Given the description of an element on the screen output the (x, y) to click on. 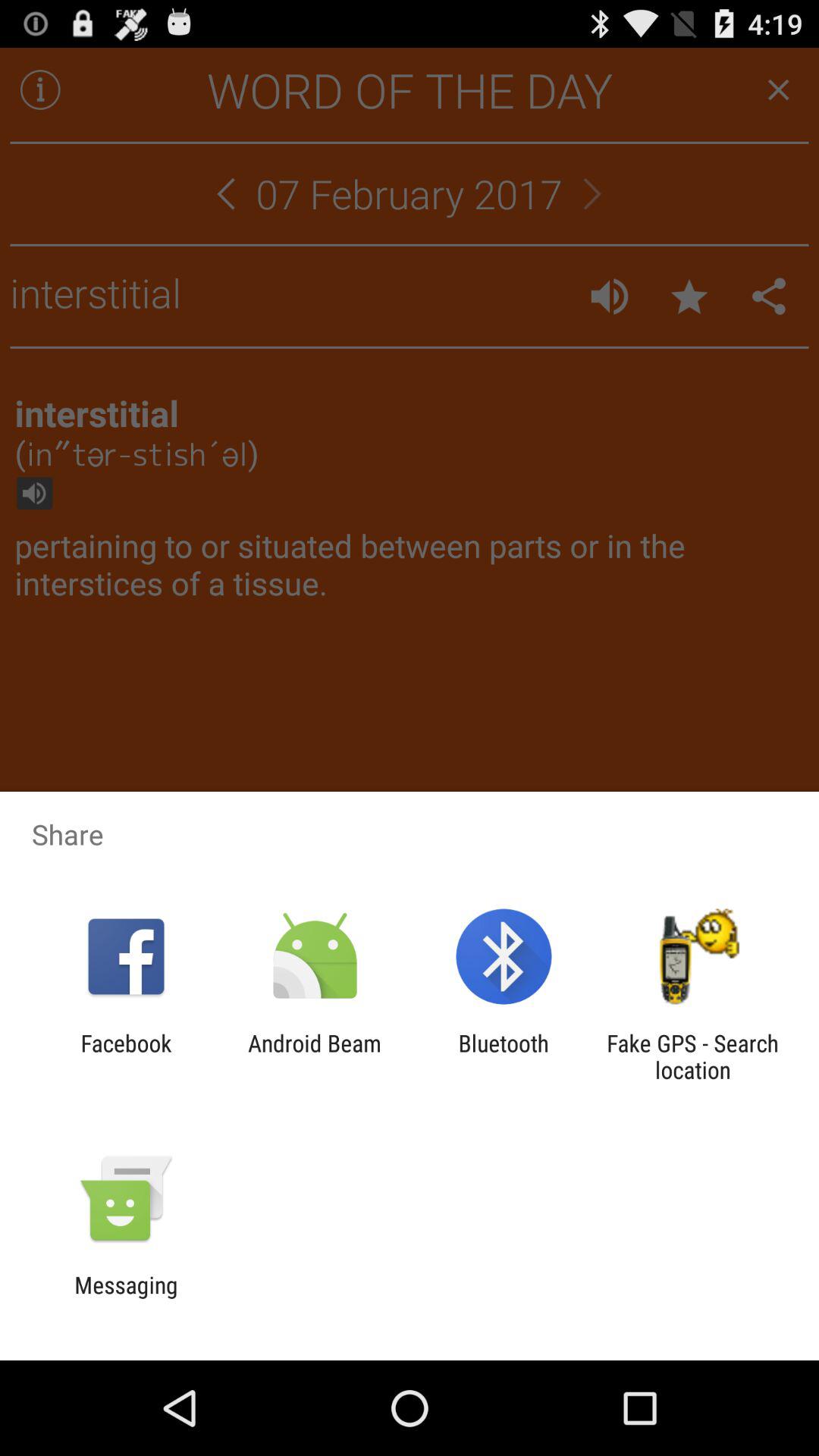
select app to the left of the bluetooth item (314, 1056)
